Given the description of an element on the screen output the (x, y) to click on. 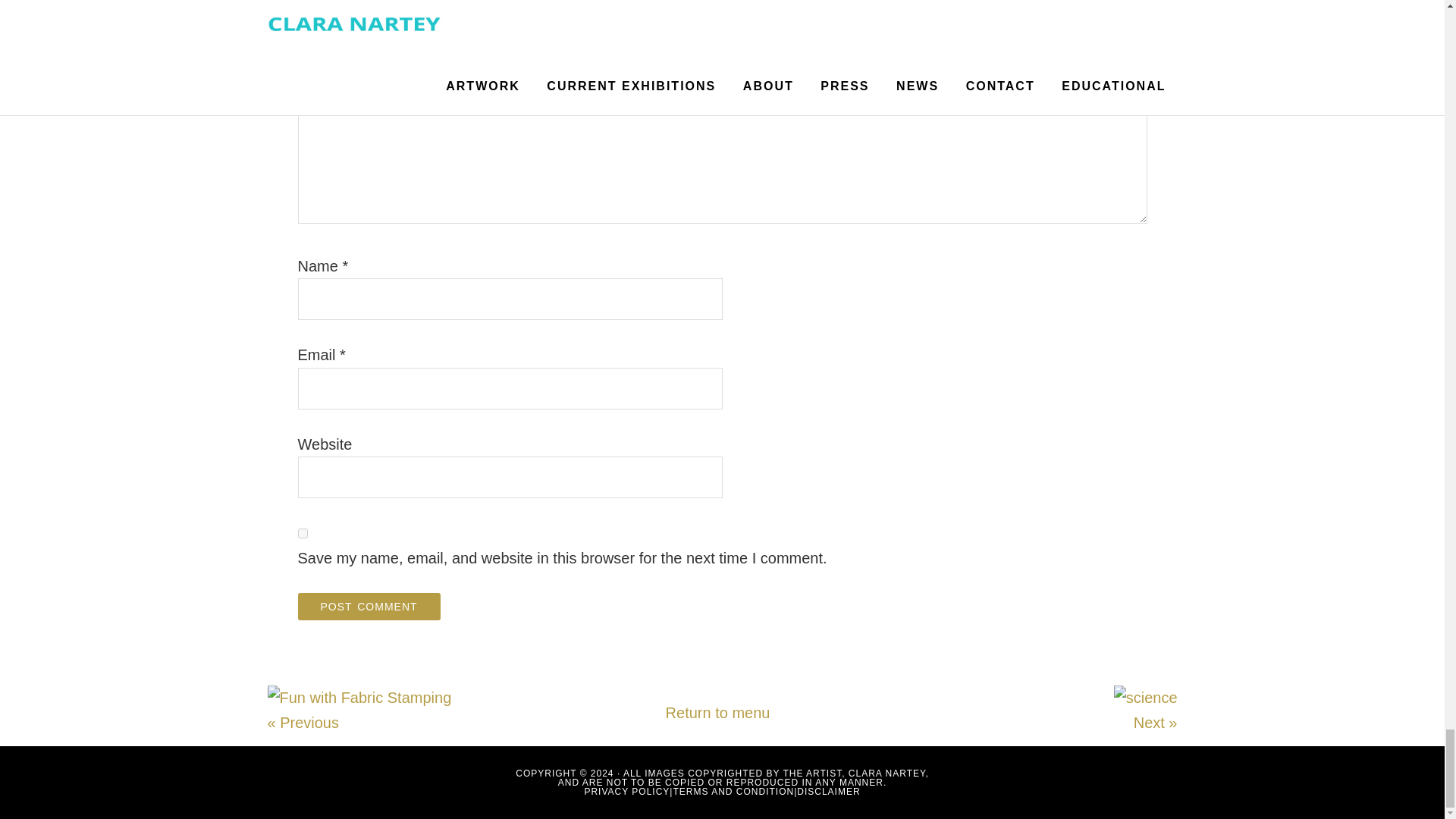
yes (302, 533)
Post Comment (368, 605)
